Given the description of an element on the screen output the (x, y) to click on. 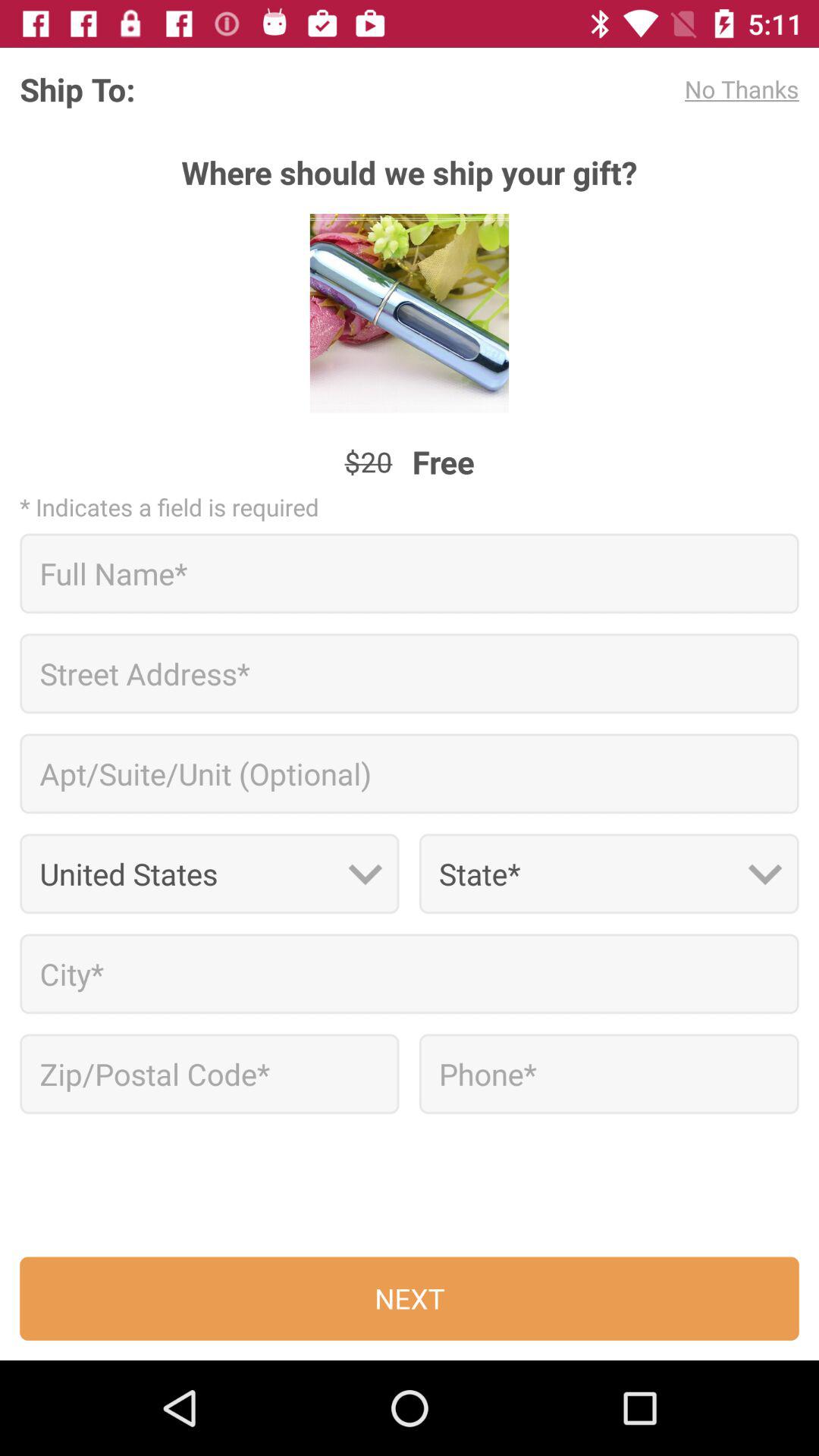
text box to enter full name (409, 573)
